Given the description of an element on the screen output the (x, y) to click on. 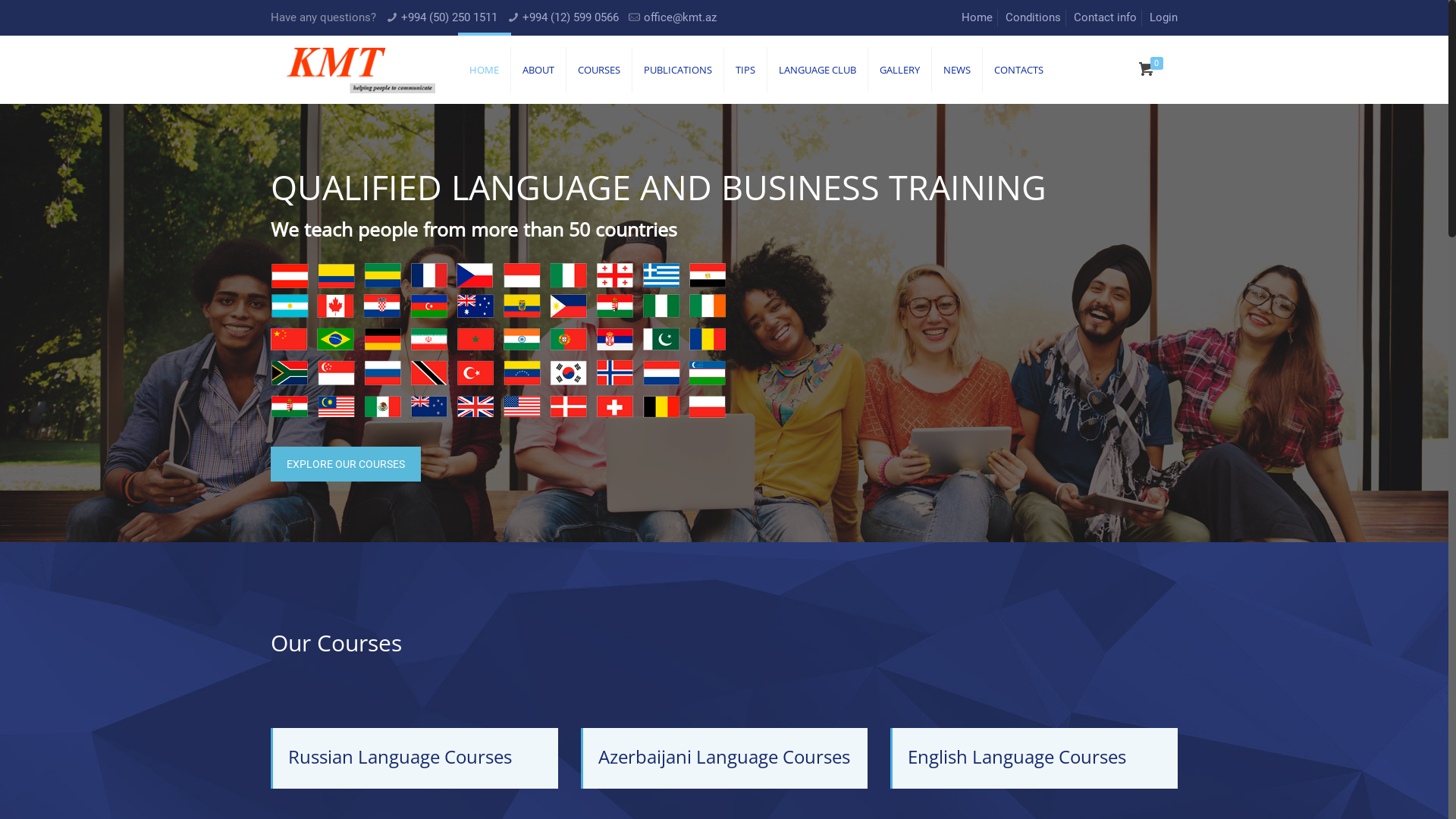
ABOUT Element type: text (538, 69)
Azerbaijani Language Courses Element type: text (725, 755)
HOME Element type: text (484, 69)
Login Element type: text (1163, 17)
Home Element type: text (976, 17)
COURSES Element type: text (599, 69)
GALLERY Element type: text (899, 69)
English Language Courses Element type: text (1034, 755)
LANGUAGE CLUB Element type: text (817, 69)
Contact info Element type: text (1104, 17)
Conditions Element type: text (1032, 17)
TIPS Element type: text (745, 69)
office@kmt.az Element type: text (679, 17)
Russian Language Courses Element type: text (415, 755)
0 Element type: text (1152, 69)
CONTACTS Element type: text (1018, 69)
NEWS Element type: text (956, 69)
+994 (12) 599 0566 Element type: text (570, 17)
EXPLORE OUR COURSES Element type: text (345, 463)
+994 (50) 250 1511 Element type: text (449, 17)
KMT - Azeri, Russian  Language Courses in Baku Element type: hover (360, 69)
PUBLICATIONS Element type: text (678, 69)
